Given the description of an element on the screen output the (x, y) to click on. 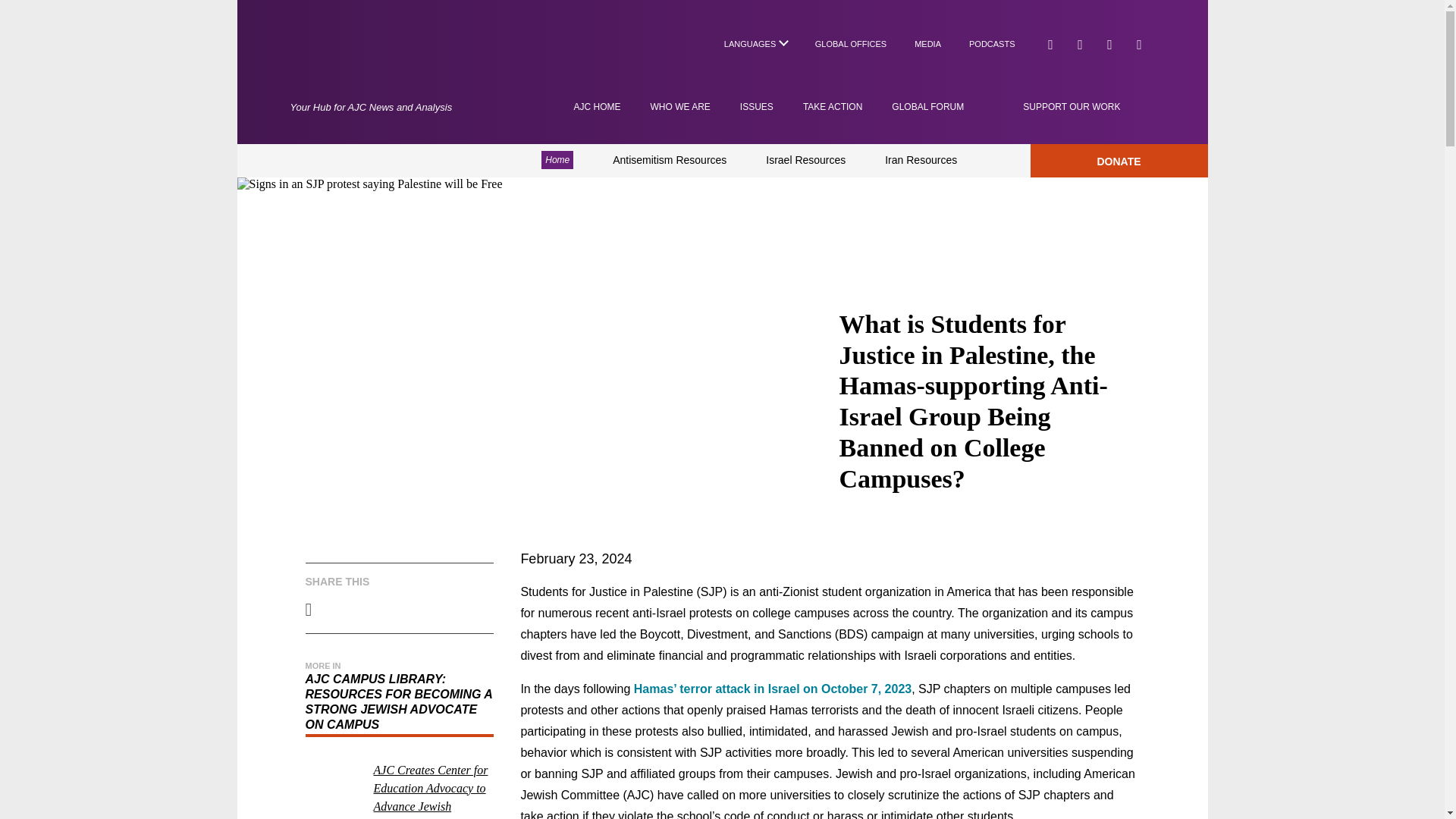
WHO WE ARE (680, 106)
AJC HOME (596, 106)
TAKE ACTION (832, 106)
ISSUES (756, 106)
Global Voice (373, 59)
GLOBAL FORUM (927, 106)
